Given the description of an element on the screen output the (x, y) to click on. 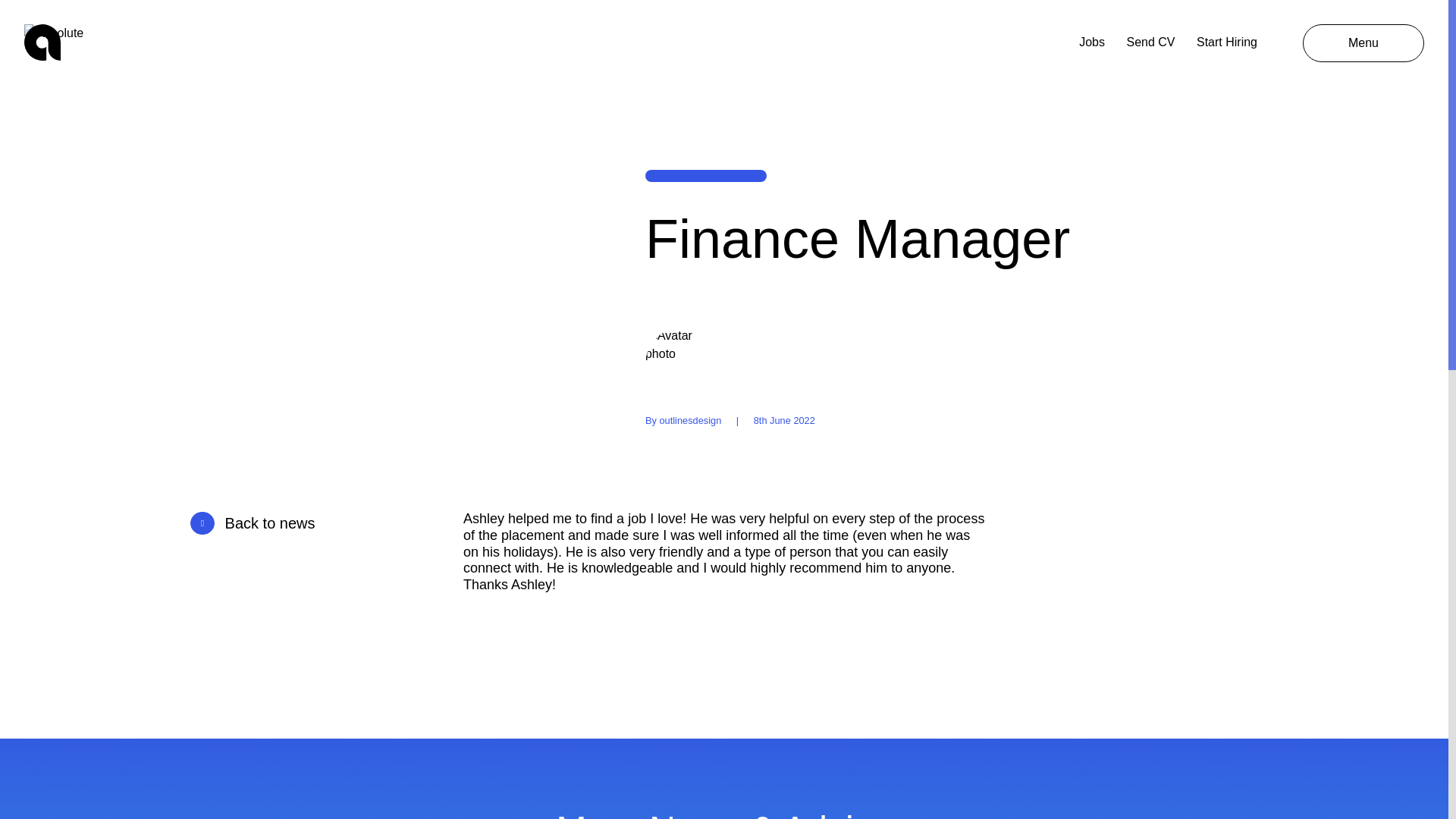
Back to news (314, 522)
Send CV (1149, 42)
Start Hiring (1226, 42)
